Given the description of an element on the screen output the (x, y) to click on. 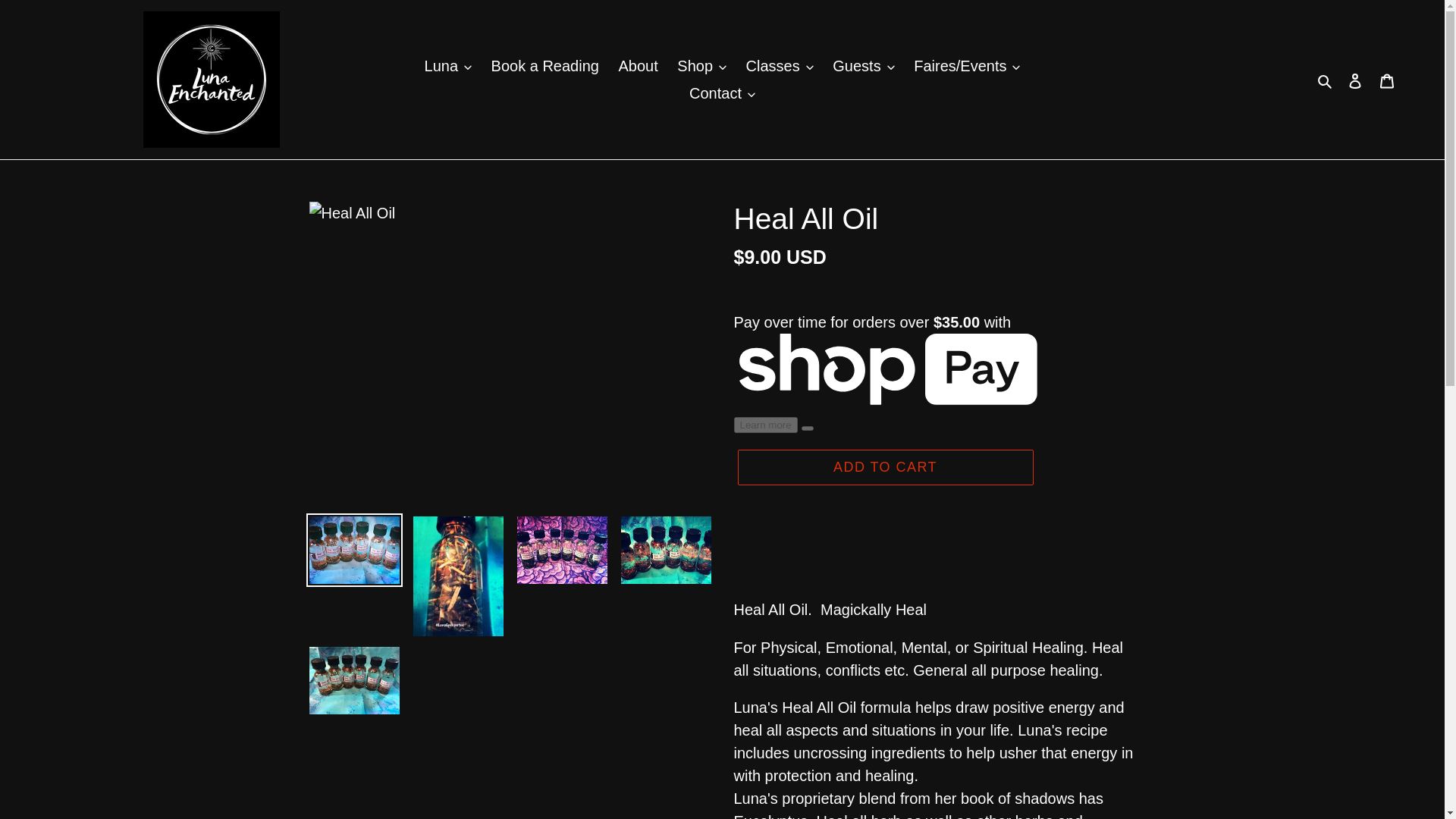
Luna (448, 65)
Contact (721, 93)
About (637, 65)
Classes (779, 65)
Book a Reading (545, 65)
Shop (701, 65)
Guests (863, 65)
Search (1326, 79)
